Given the description of an element on the screen output the (x, y) to click on. 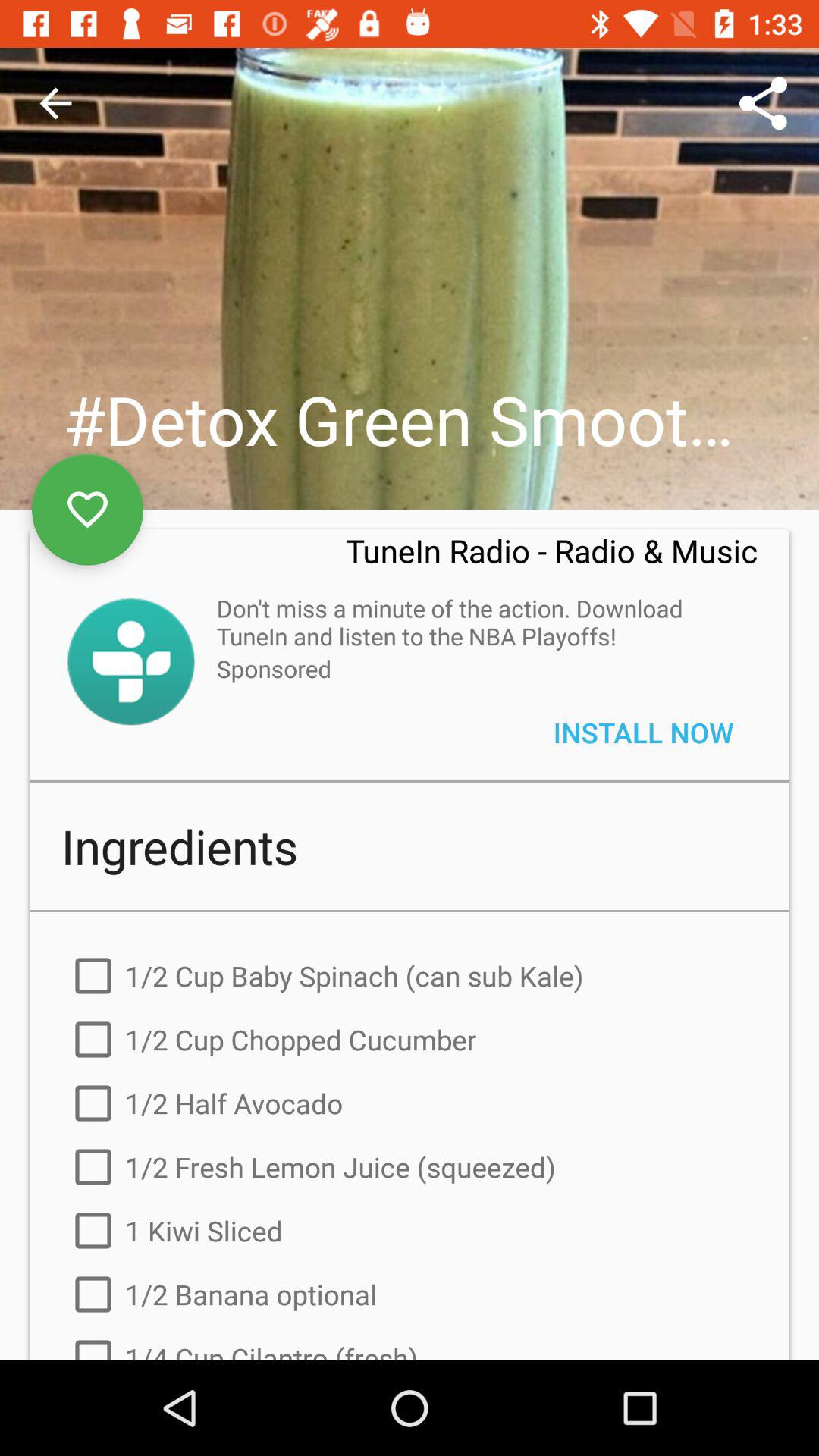
jump until the don t miss icon (478, 622)
